Given the description of an element on the screen output the (x, y) to click on. 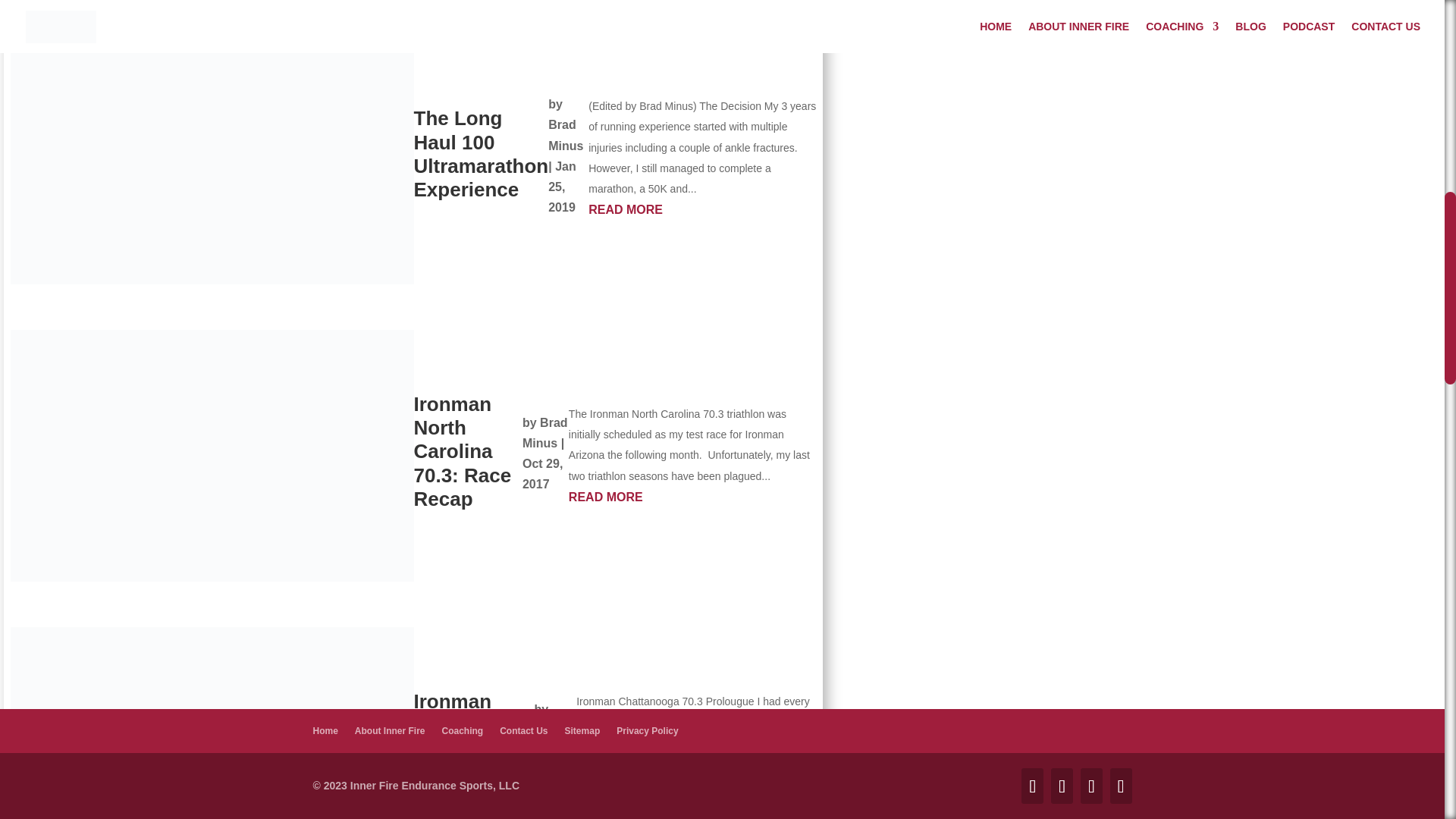
Posts by Brad Minus (544, 432)
Posts by Brad Minus (551, 739)
Ironman Chattanooga 70.3 Triathlon Part Deux (473, 748)
Brad Minus (551, 739)
READ MORE (702, 209)
READ MORE (692, 496)
The Long Haul 100 Ultramarathon Experience (480, 153)
Brad Minus (565, 134)
READ MORE (696, 804)
Brad Minus (544, 432)
Posts by Brad Minus (565, 134)
